Given the description of an element on the screen output the (x, y) to click on. 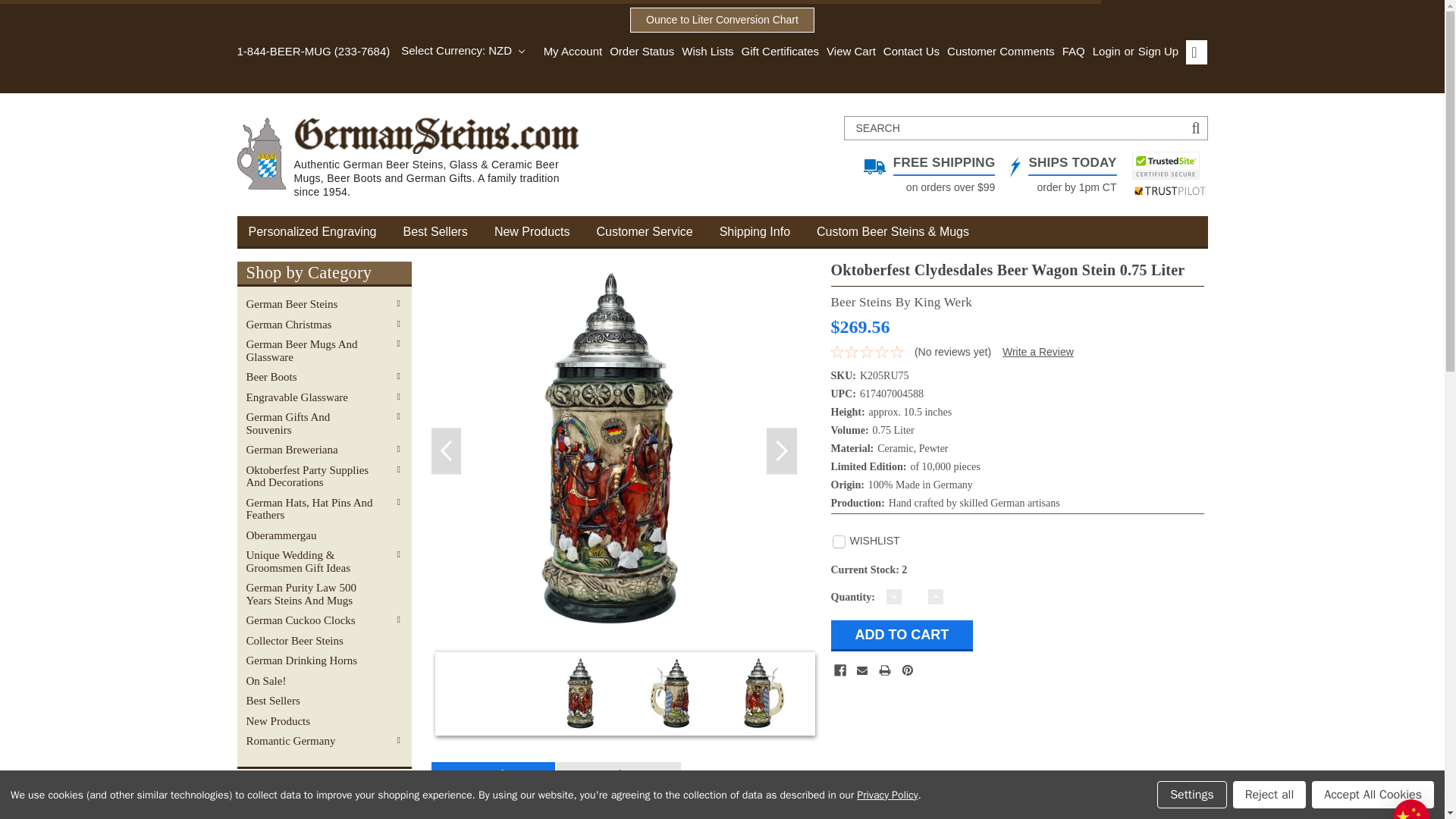
FAQ (1069, 51)
My Account (572, 51)
German beer steins, boots, mugs, glasses and other gifts (415, 158)
Login (1107, 51)
Wish Lists (703, 51)
Sign Up (1155, 51)
Contact Us (907, 51)
1 (914, 595)
Ounce to Liter Conversion Chart (721, 19)
Gift Certificates (776, 51)
New German made steins and other gifts arrive often (545, 231)
Select Currency: NZD (462, 50)
